Given the description of an element on the screen output the (x, y) to click on. 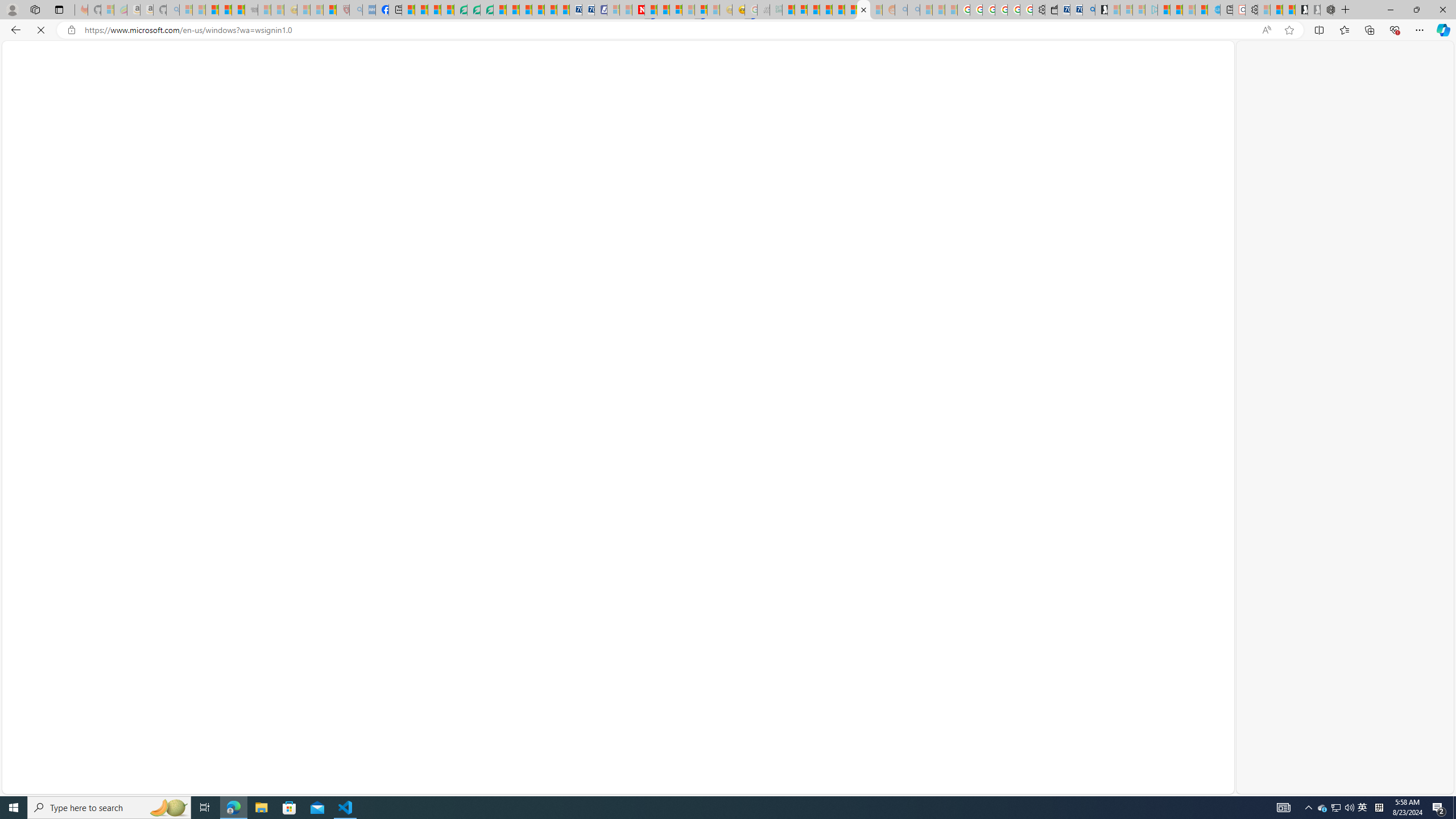
LendingTree - Compare Lenders (460, 9)
Kinda Frugal - MSN (850, 9)
